Given the description of an element on the screen output the (x, y) to click on. 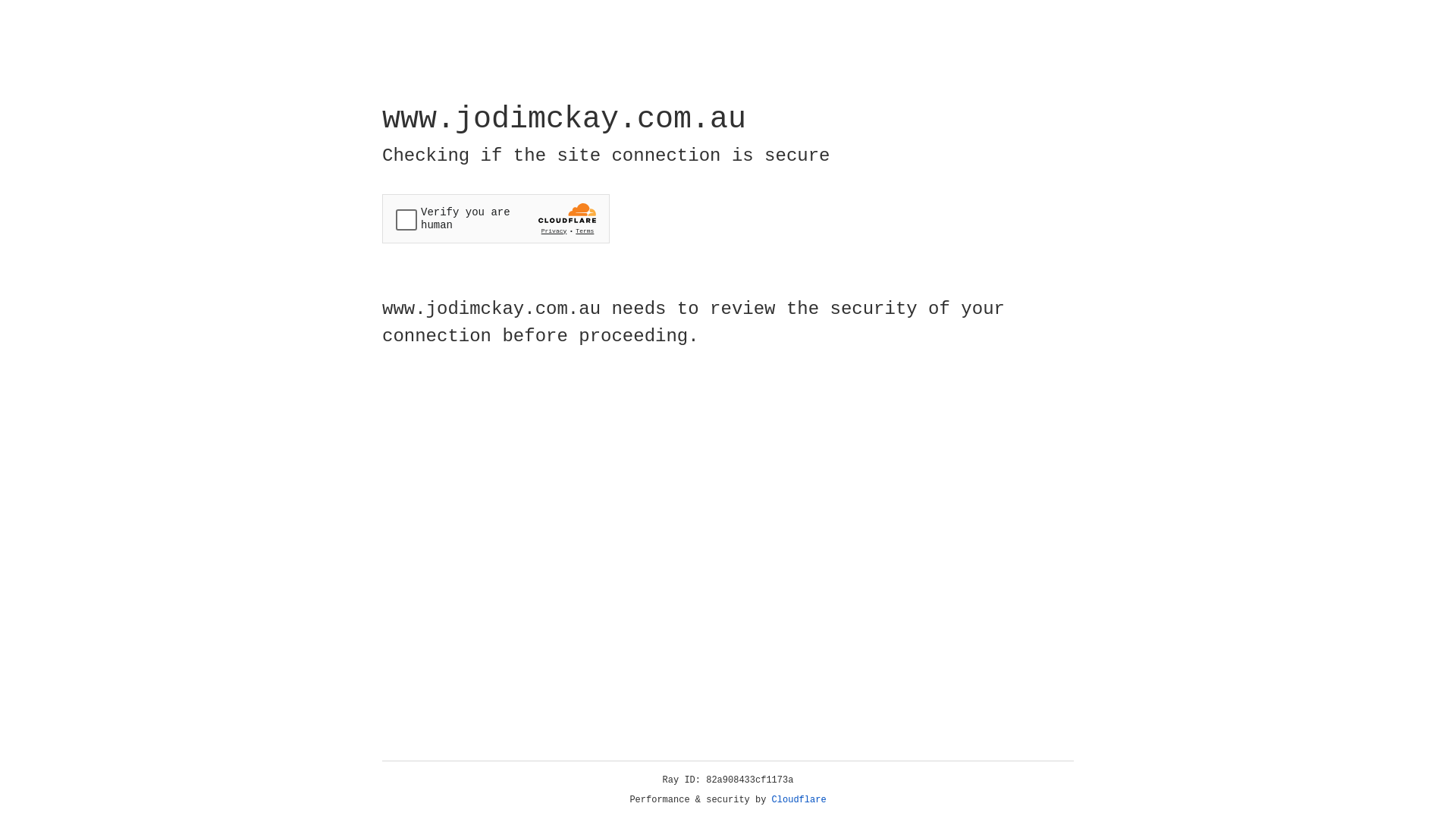
Cloudflare Element type: text (798, 799)
Widget containing a Cloudflare security challenge Element type: hover (495, 218)
